Given the description of an element on the screen output the (x, y) to click on. 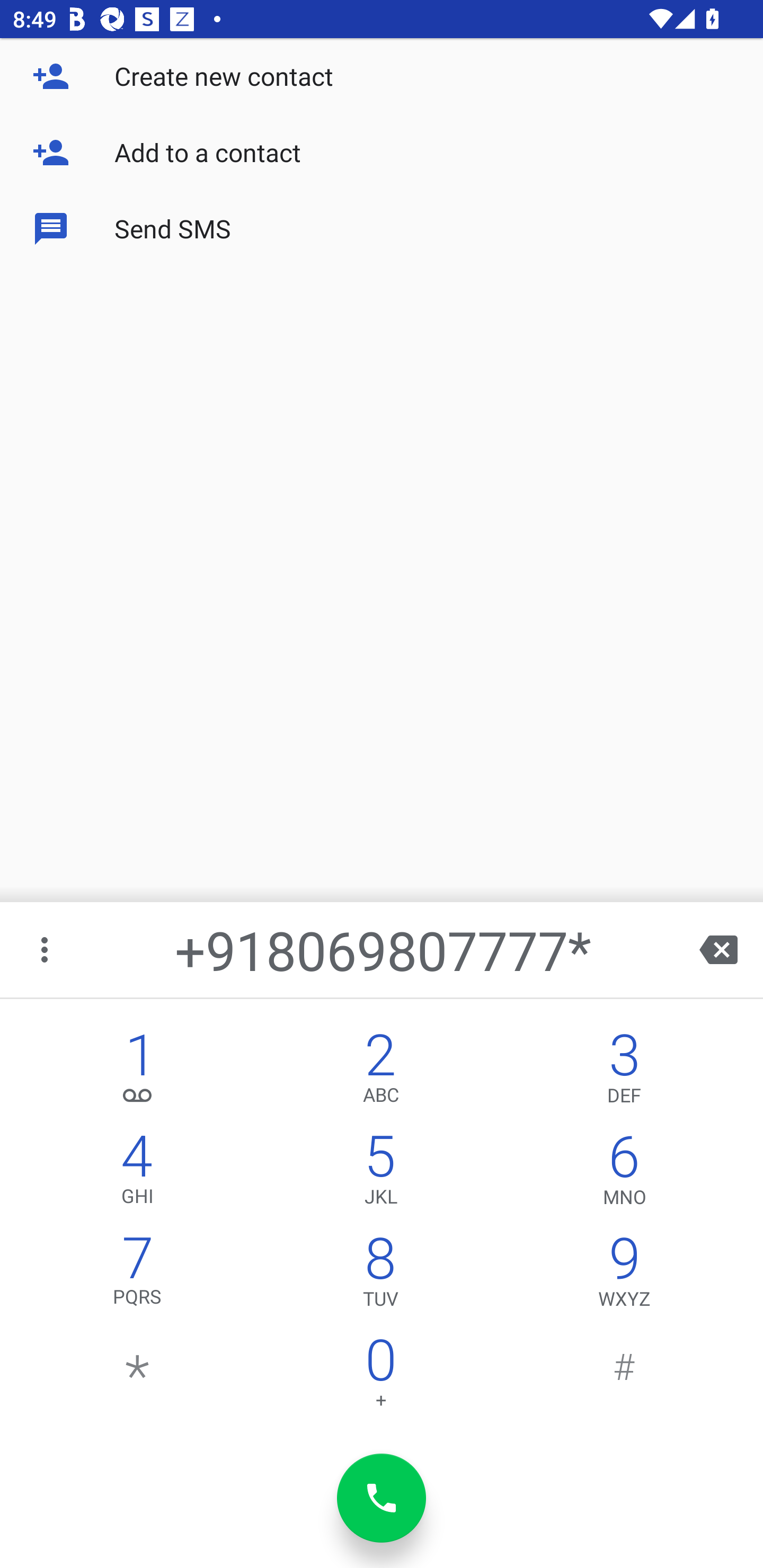
Create new contact (381, 75)
Add to a contact (381, 152)
Send SMS (381, 228)
+918069807777* (382, 949)
backspace (718, 949)
More options (45, 949)
1, 1 (137, 1071)
2,ABC 2 ABC (380, 1071)
3,DEF 3 DEF (624, 1071)
4,GHI 4 GHI (137, 1173)
5,JKL 5 JKL (380, 1173)
6,MNO 6 MNO (624, 1173)
7,PQRS 7 PQRS (137, 1275)
8,TUV 8 TUV (380, 1275)
9,WXYZ 9 WXYZ (624, 1275)
* (137, 1377)
0 0 + (380, 1377)
# (624, 1377)
dial (381, 1497)
